Given the description of an element on the screen output the (x, y) to click on. 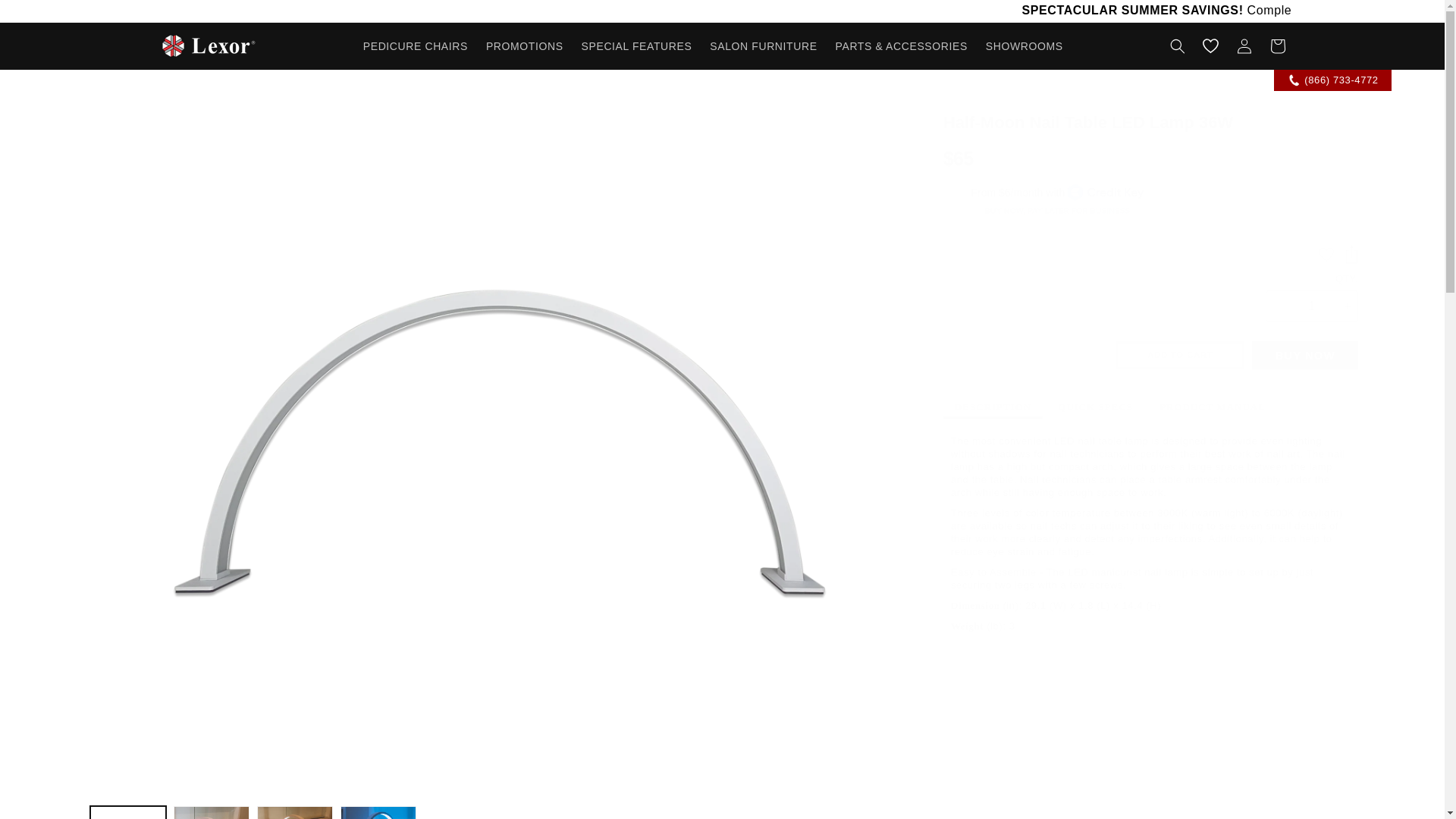
PROMOTIONS (524, 46)
Skip to product information (131, 113)
SPECIAL FEATURES (636, 46)
Skip to content (45, 17)
PEDICURE CHAIRS (415, 46)
SHOWROOMS (1023, 46)
Cart (1277, 46)
SALON FURNITURE (762, 46)
Log in (1243, 46)
1 (1311, 306)
